Given the description of an element on the screen output the (x, y) to click on. 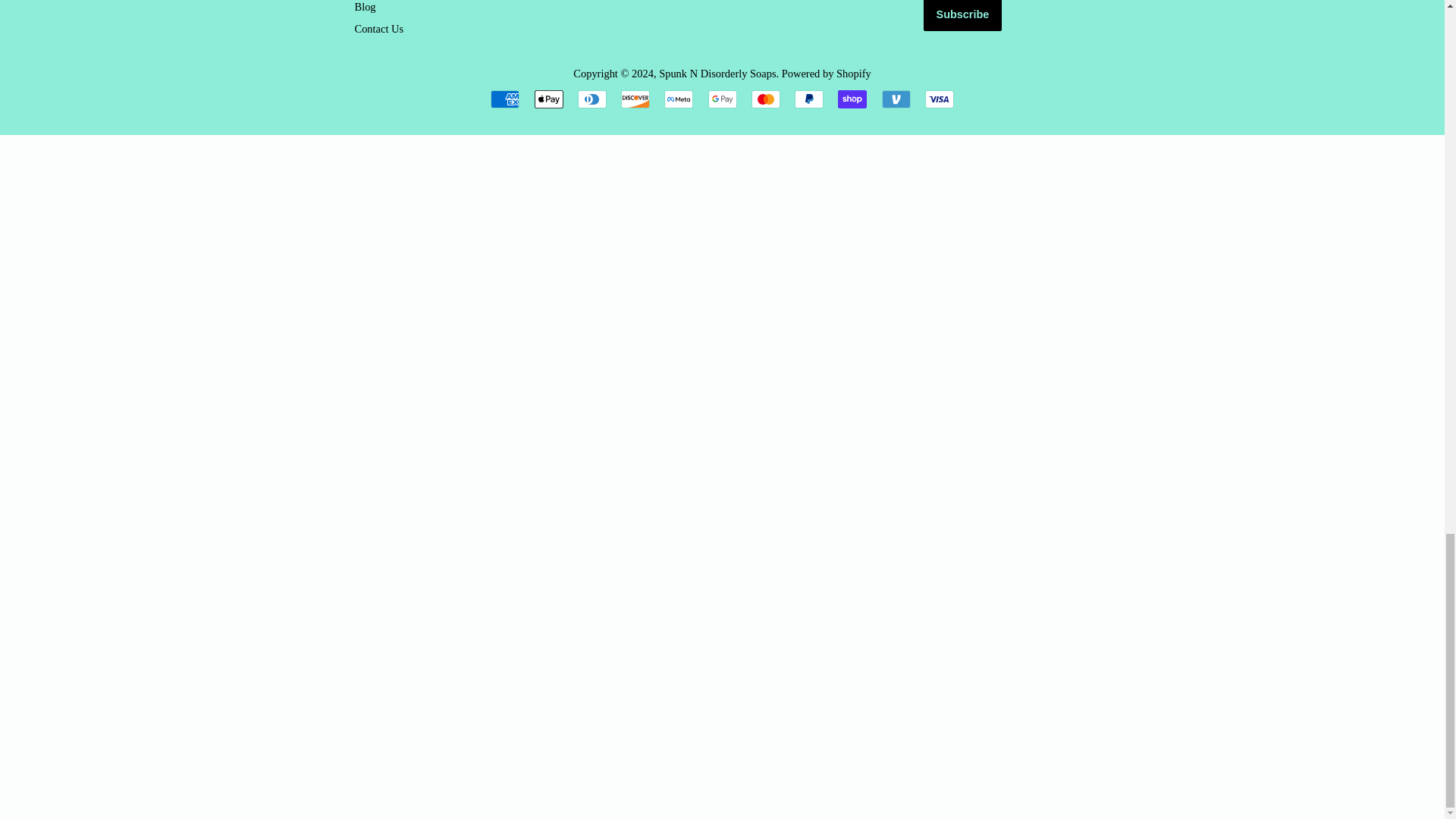
Google Pay (721, 99)
Visa (938, 99)
Mastercard (765, 99)
PayPal (809, 99)
Diners Club (592, 99)
Apple Pay (548, 99)
Subscribe (963, 15)
Discover (635, 99)
American Express (504, 99)
Meta Pay (678, 99)
